Given the description of an element on the screen output the (x, y) to click on. 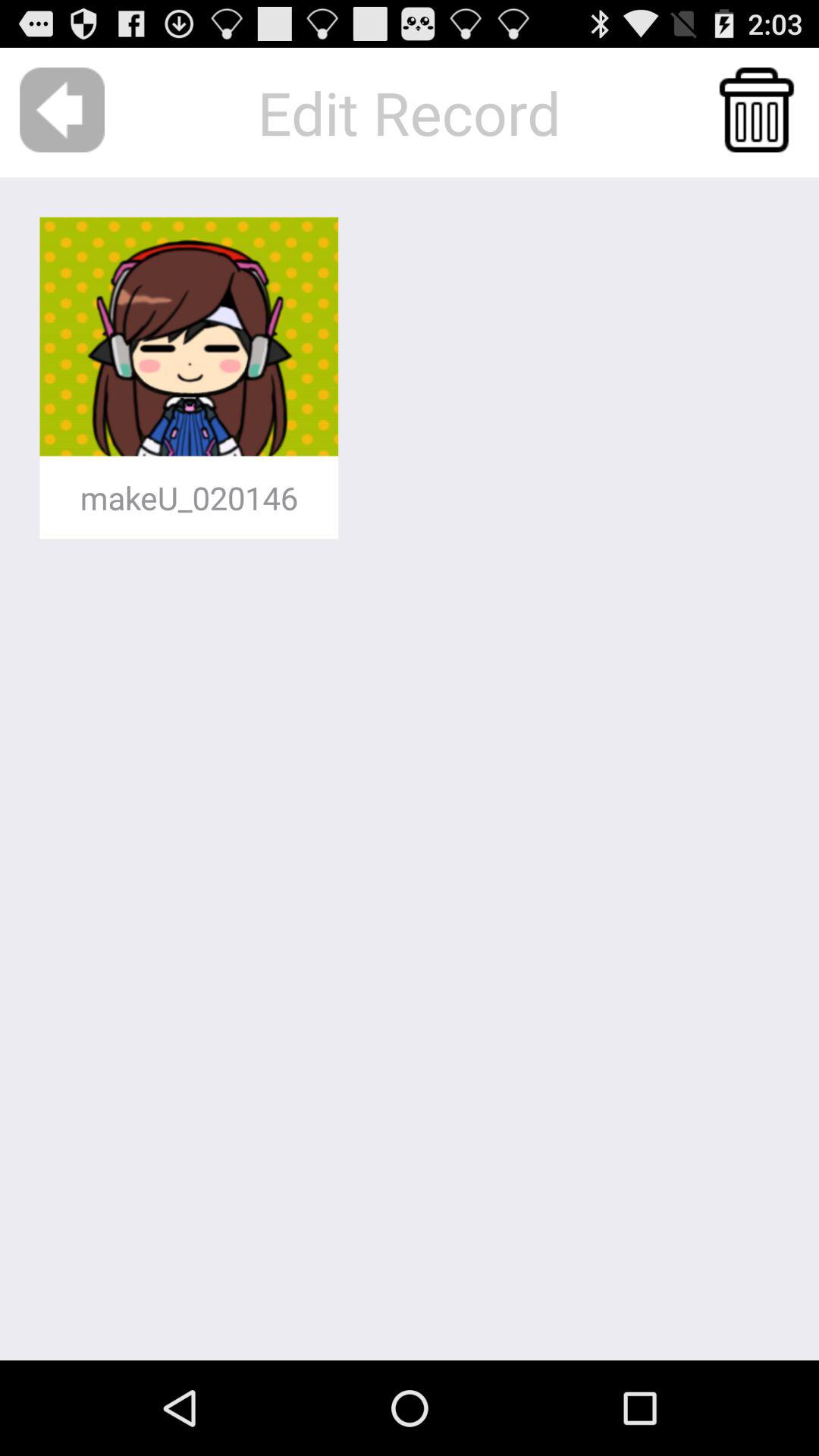
open the item at the top right corner (756, 109)
